Given the description of an element on the screen output the (x, y) to click on. 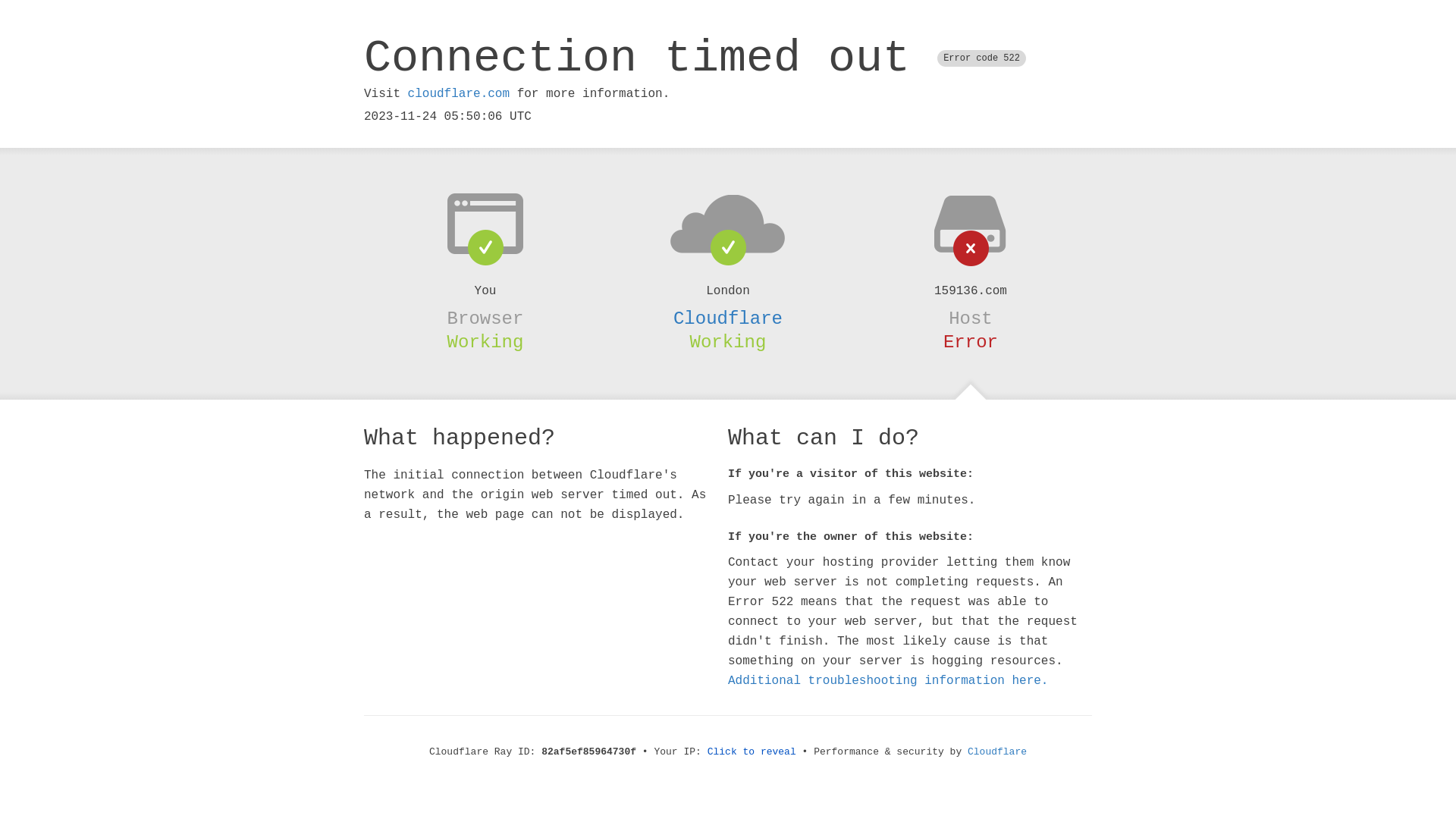
cloudflare.com Element type: text (458, 93)
Cloudflare Element type: text (996, 751)
Cloudflare Element type: text (727, 318)
Additional troubleshooting information here. Element type: text (888, 680)
Click to reveal Element type: text (751, 751)
